Given the description of an element on the screen output the (x, y) to click on. 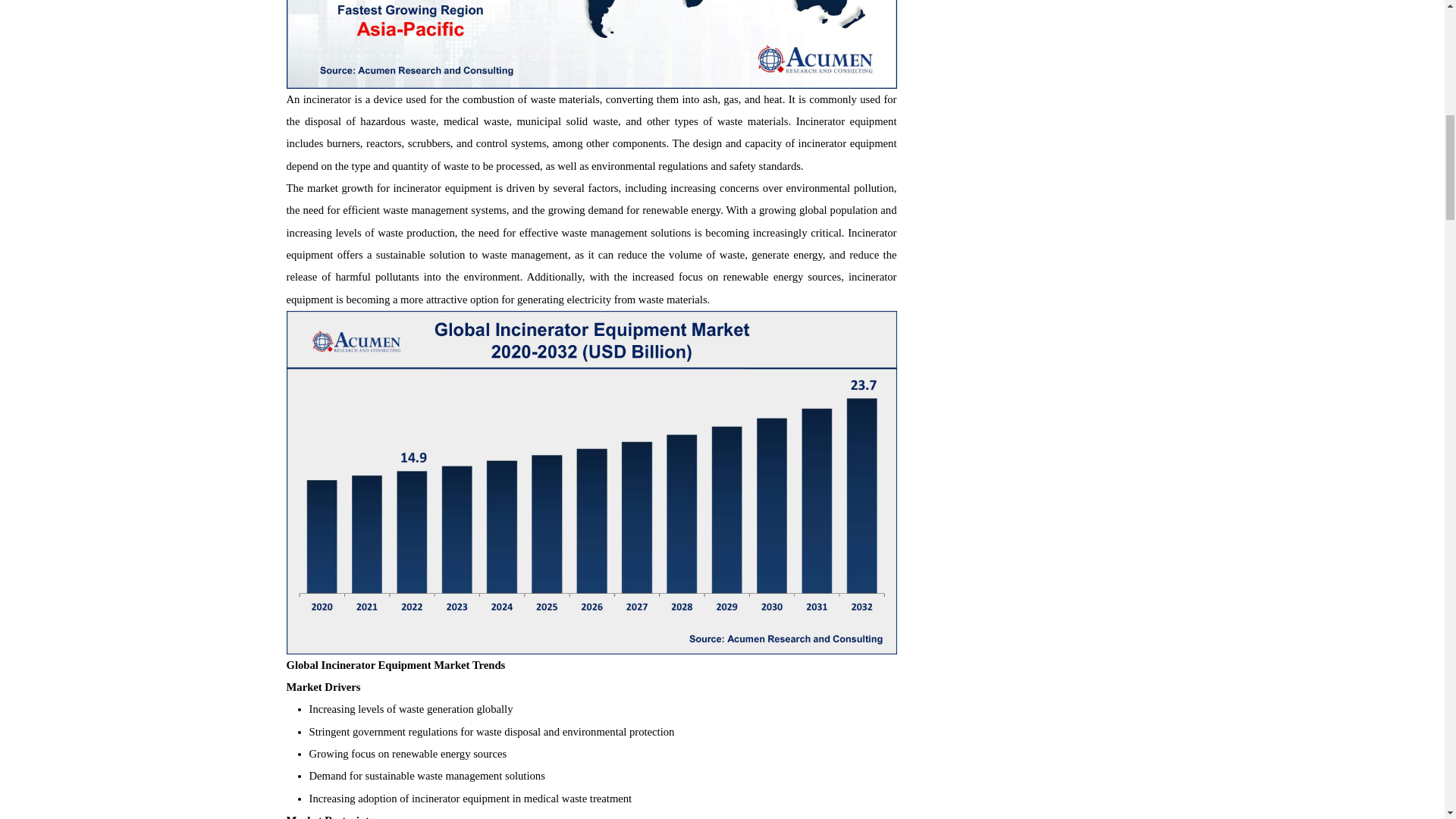
Incinerator Market (591, 44)
